Given the description of an element on the screen output the (x, y) to click on. 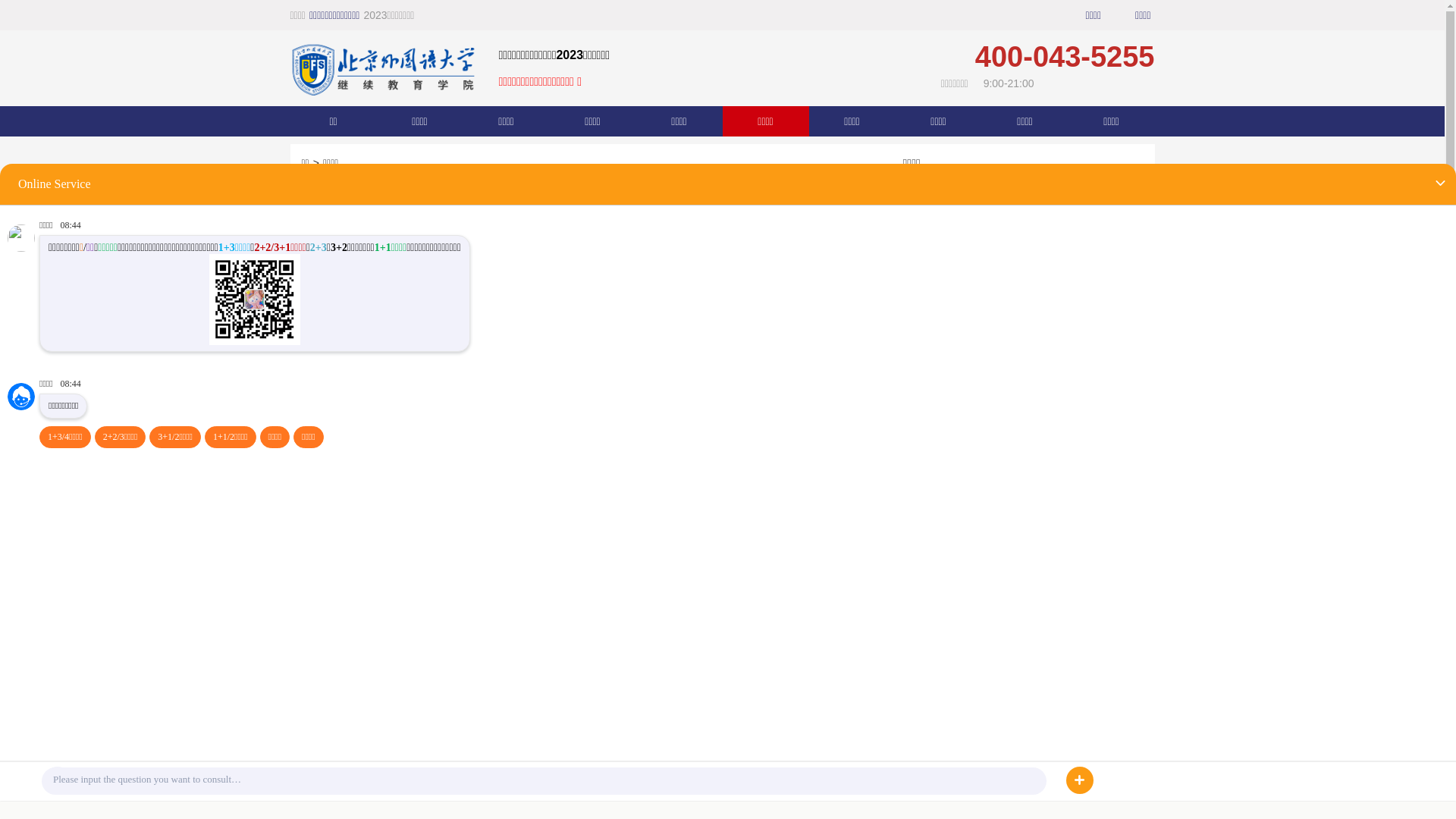
... Element type: text (1140, 380)
